Given the description of an element on the screen output the (x, y) to click on. 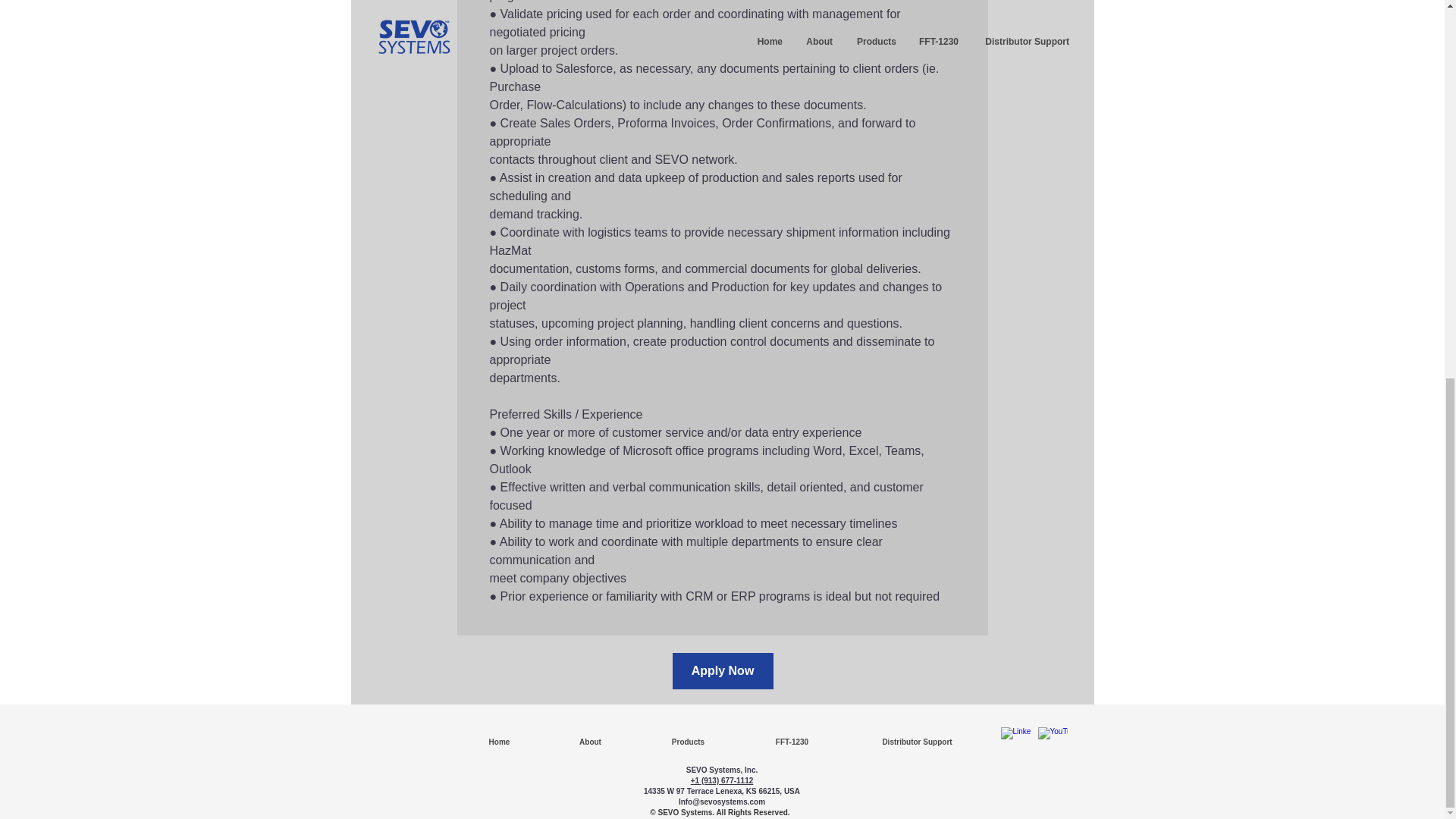
Home (498, 742)
About (589, 742)
Products (686, 742)
FFT-1230 (791, 742)
Apply Now (722, 670)
Distributor Support (916, 742)
